Given the description of an element on the screen output the (x, y) to click on. 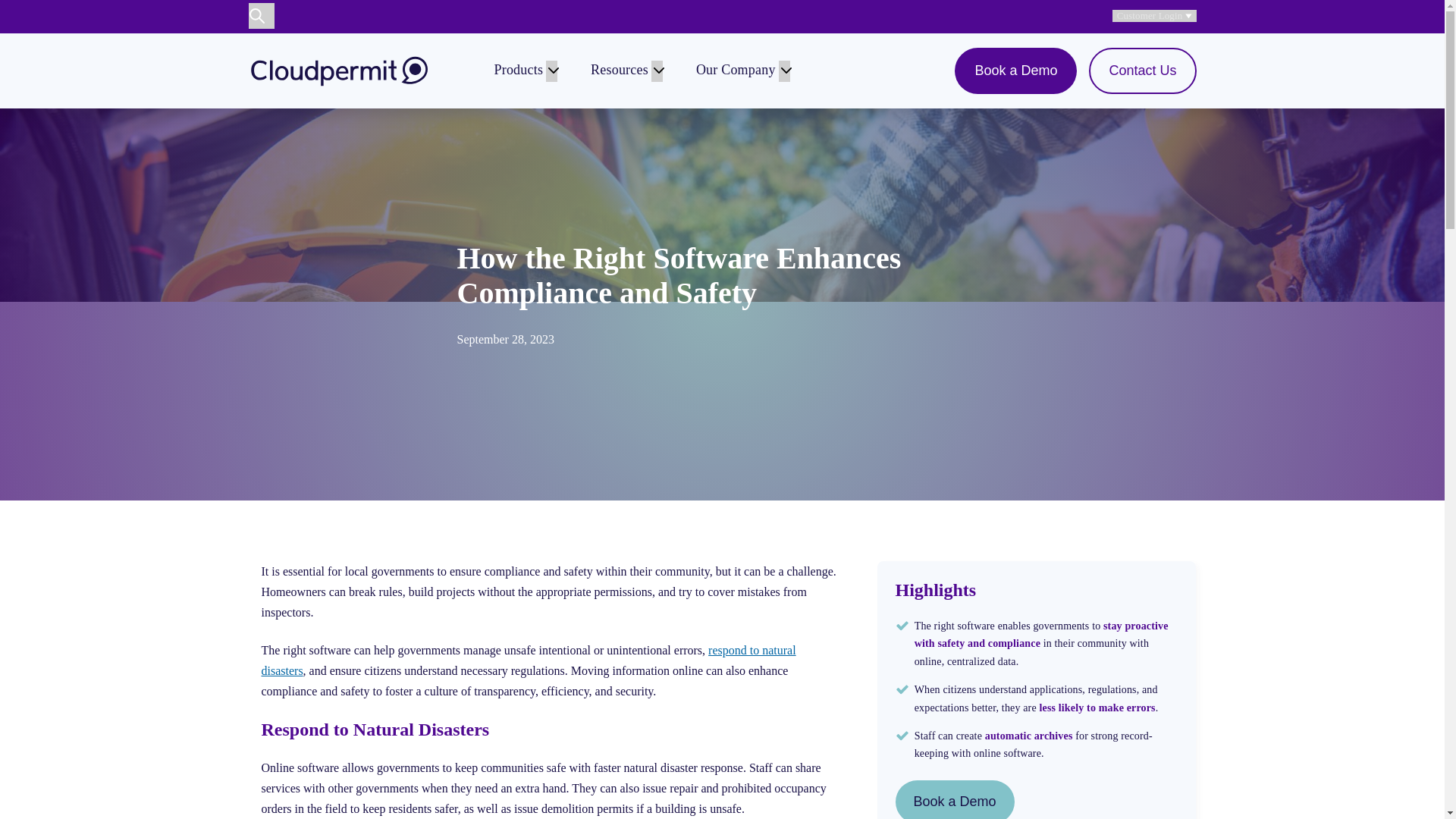
Resources (619, 69)
Customer Login (1154, 15)
Cloudpermit (339, 70)
Our Company (735, 69)
Products (519, 69)
